Given the description of an element on the screen output the (x, y) to click on. 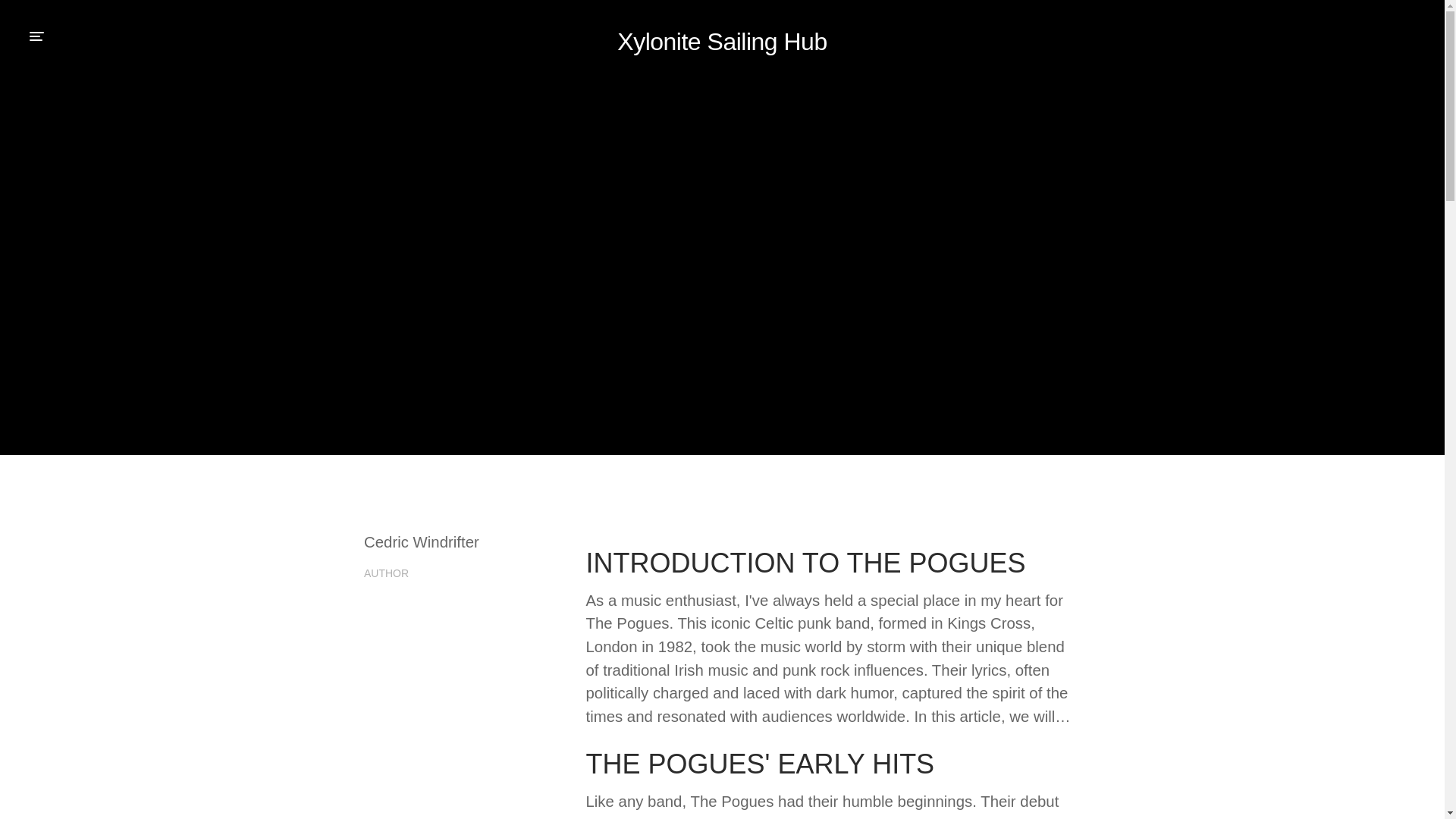
Xylonite Sailing Hub (722, 41)
